Given the description of an element on the screen output the (x, y) to click on. 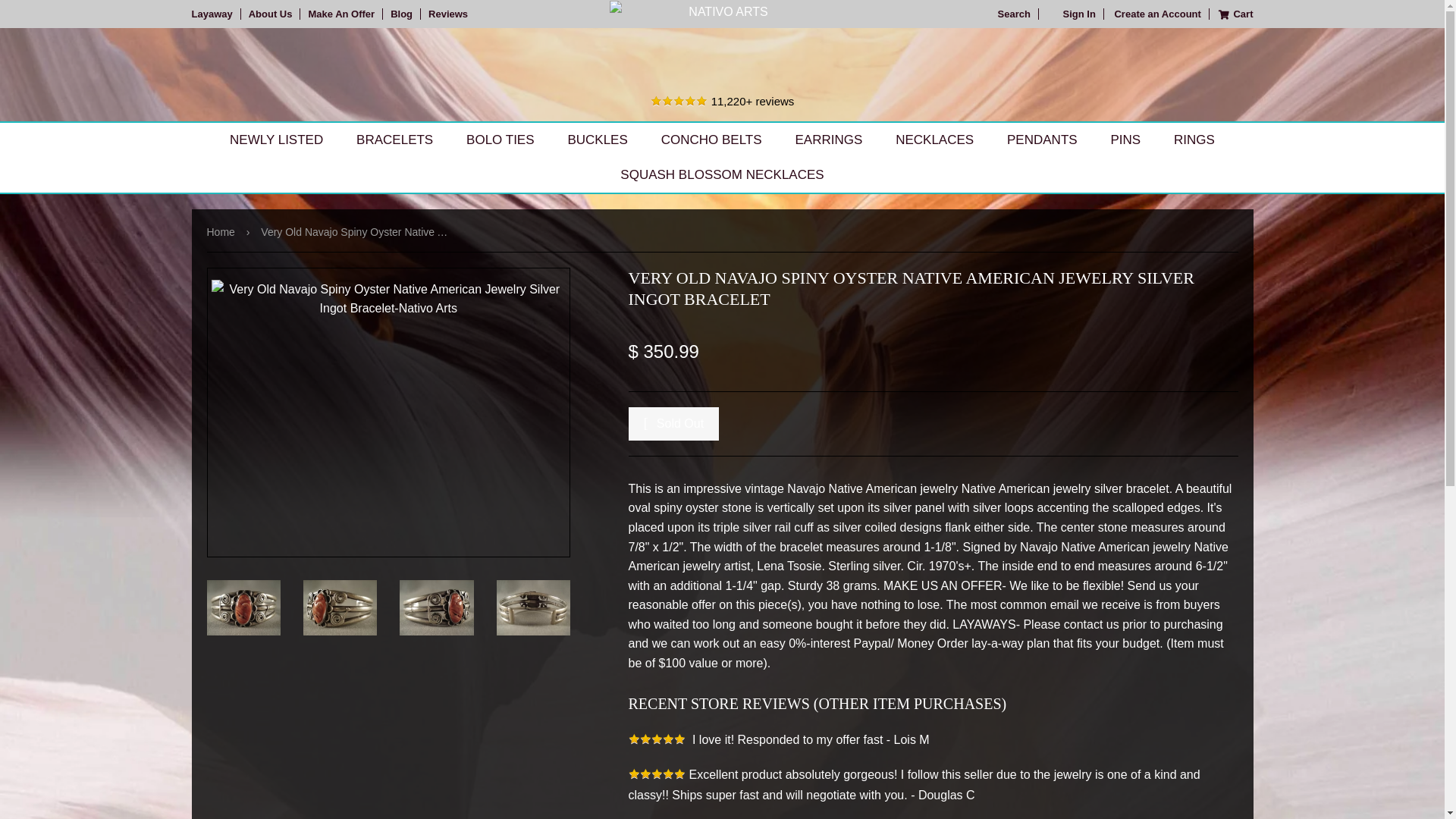
BUCKLES (596, 140)
Layaway (215, 13)
RINGS (1194, 140)
Sign In (1072, 13)
PINS (1125, 140)
Blog (401, 13)
PENDANTS (1042, 140)
Cart (1231, 14)
NEWLY LISTED (275, 140)
SQUASH BLOSSOM NECKLACES (721, 175)
